Given the description of an element on the screen output the (x, y) to click on. 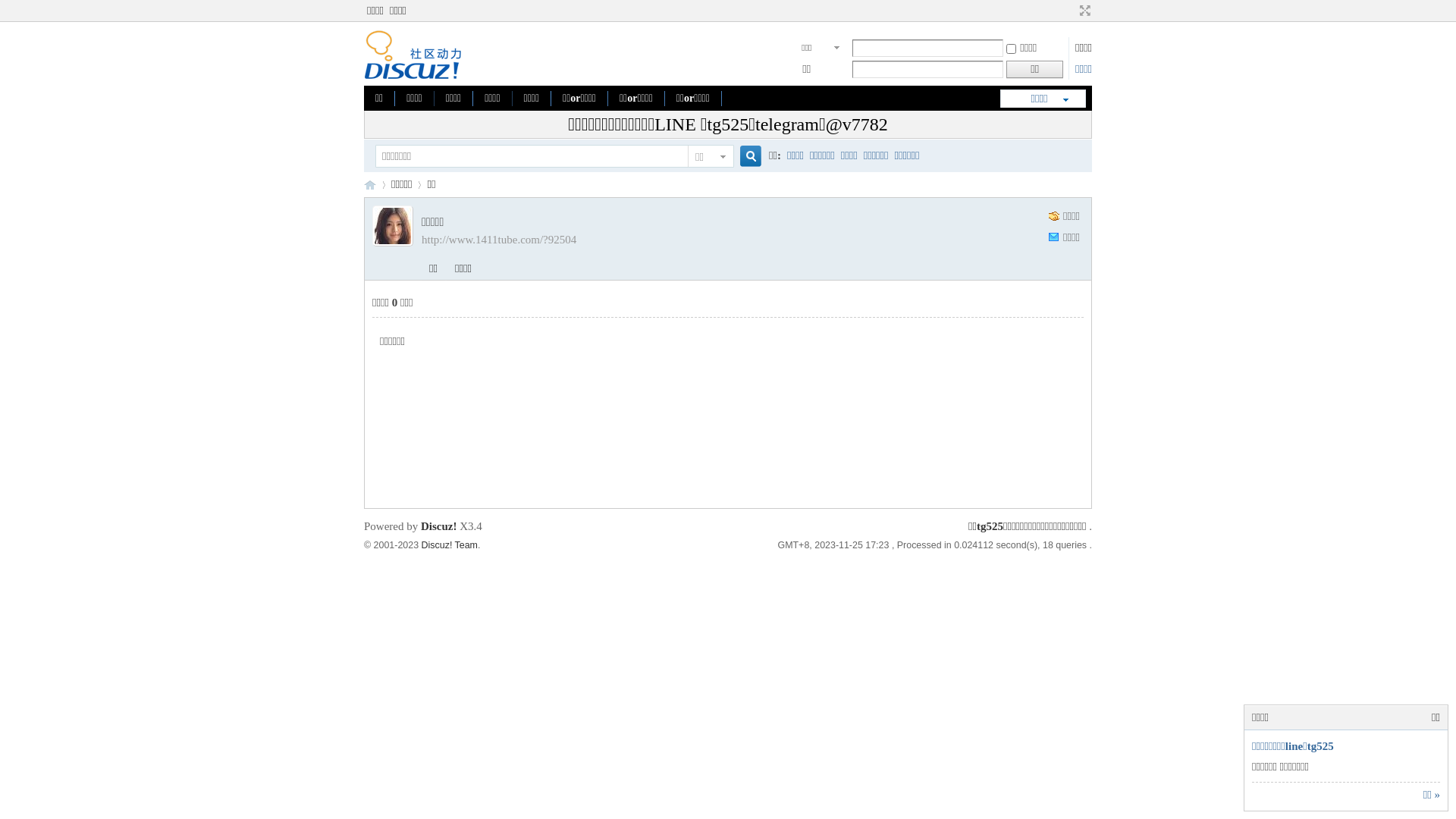
http://www.1411tube.com/?92504 Element type: text (498, 239)
Discuz! Element type: text (438, 526)
Discuz! Team Element type: text (449, 544)
true Element type: text (745, 156)
